Given the description of an element on the screen output the (x, y) to click on. 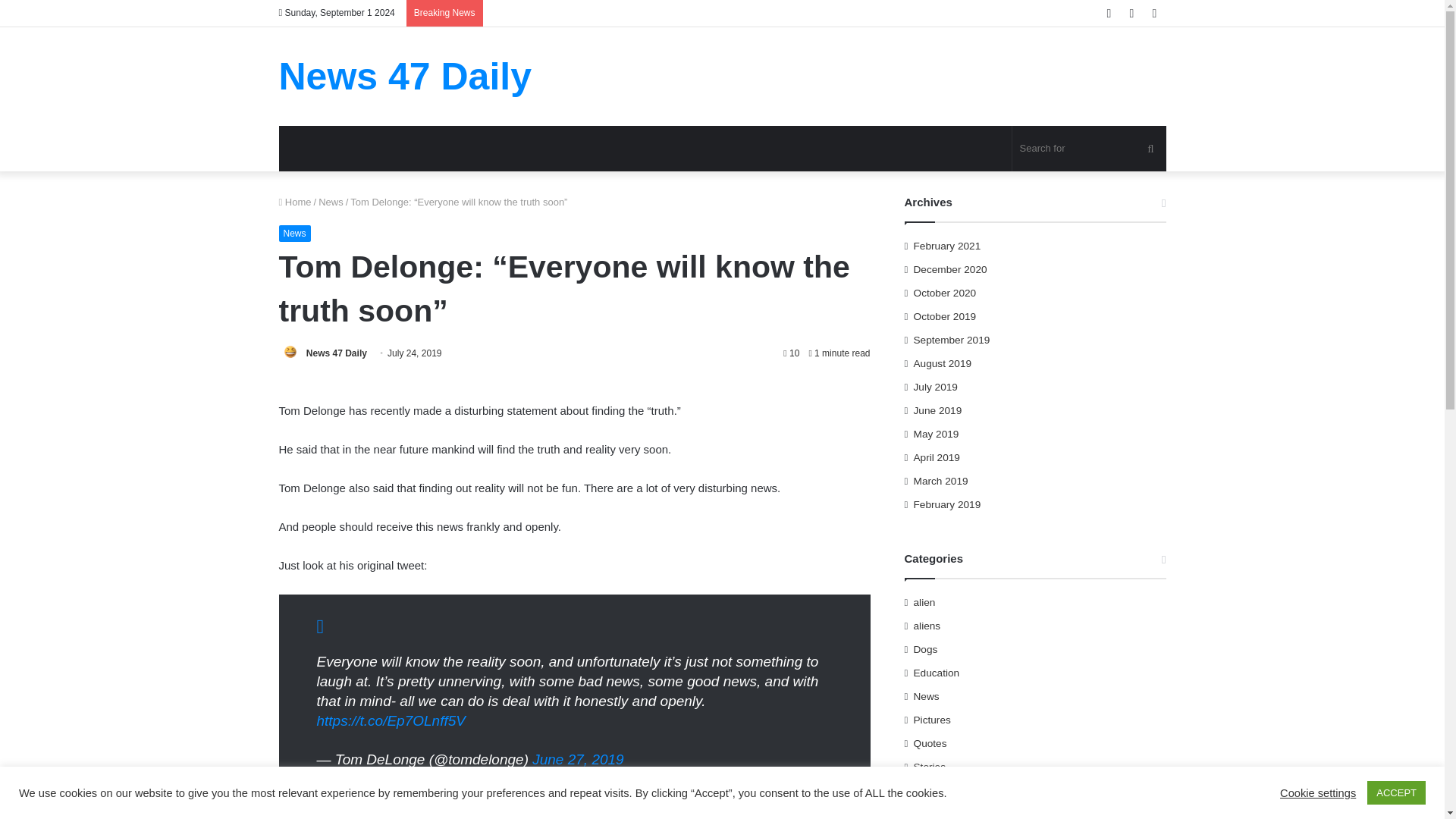
News 47 Daily (335, 353)
News (295, 233)
Search for (1088, 148)
Home (295, 202)
News 47 Daily (405, 76)
alien (925, 602)
News 47 Daily (405, 76)
June 27, 2019 (577, 759)
News (330, 202)
News 47 Daily (335, 353)
